Given the description of an element on the screen output the (x, y) to click on. 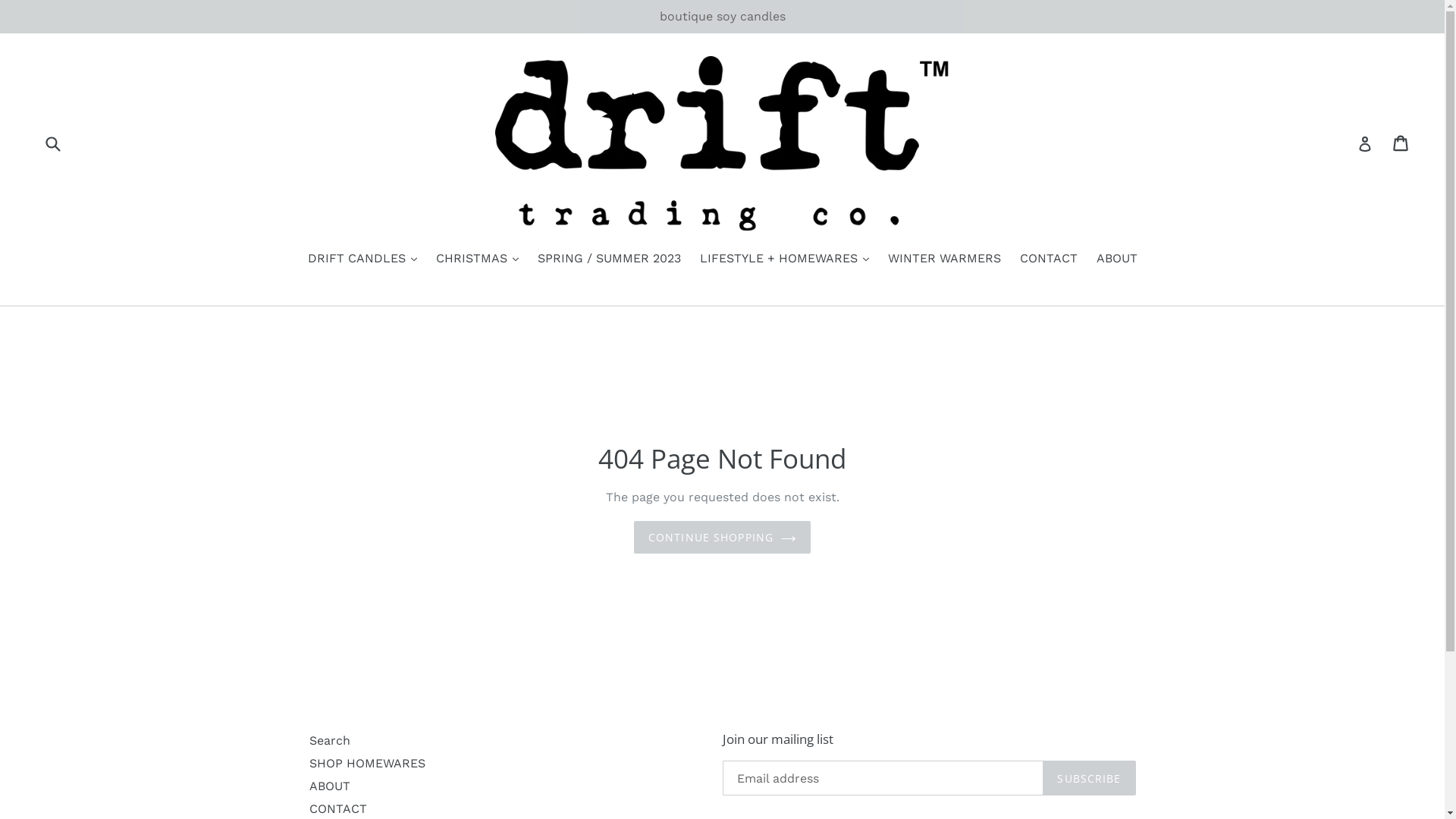
SHOP HOMEWARES Element type: text (367, 763)
Search Element type: text (329, 740)
Cart
Cart Element type: text (1401, 142)
SPRING / SUMMER 2023 Element type: text (608, 259)
ABOUT Element type: text (1116, 259)
ABOUT Element type: text (329, 785)
WINTER WARMERS Element type: text (943, 259)
Submit Element type: text (51, 142)
CONTINUE SHOPPING Element type: text (721, 536)
CONTACT Element type: text (1047, 259)
CONTACT Element type: text (338, 808)
Log in Element type: text (1364, 143)
boutique soy candles Element type: text (722, 16)
SUBSCRIBE Element type: text (1088, 777)
